Given the description of an element on the screen output the (x, y) to click on. 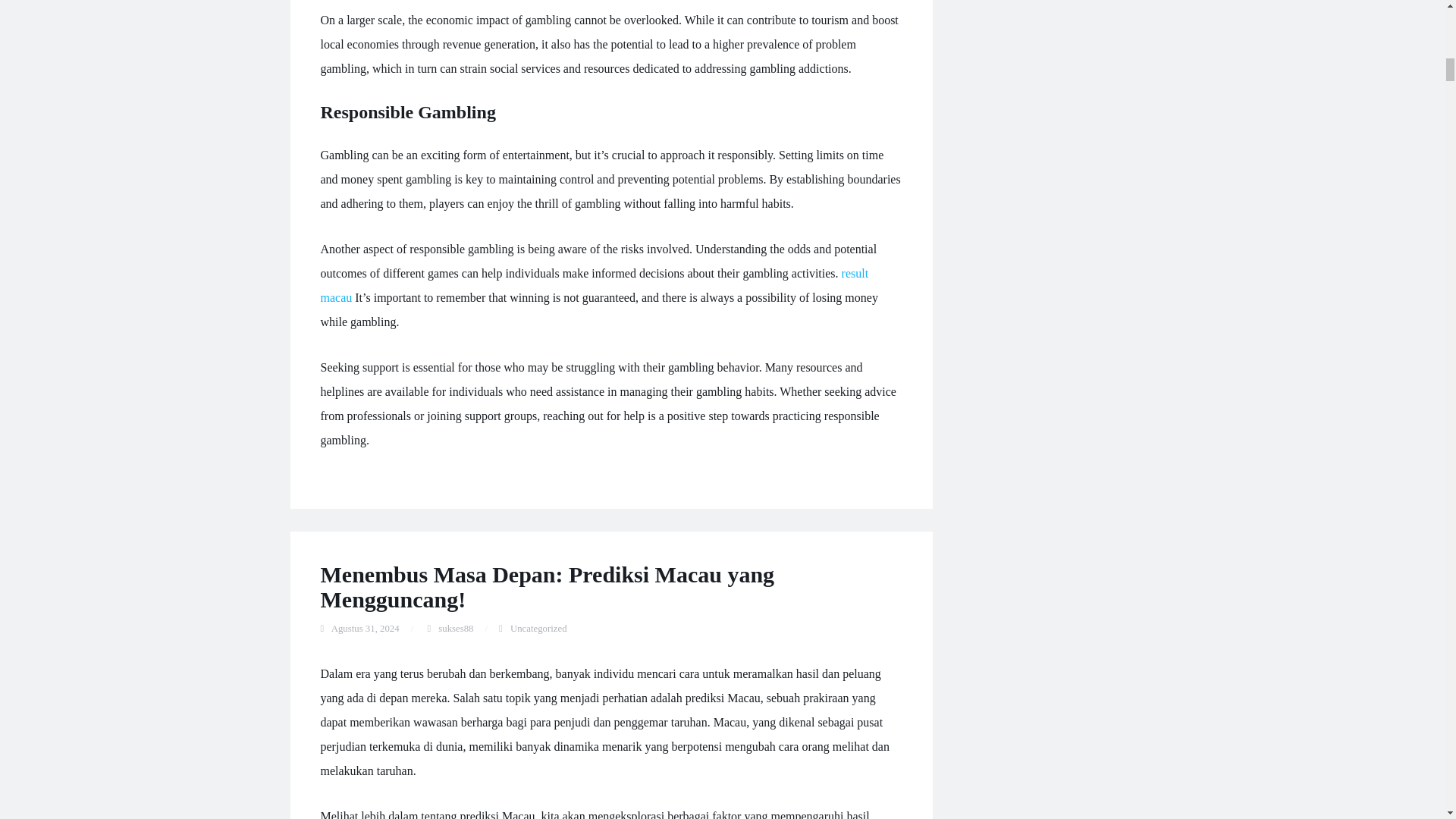
result macau (593, 284)
sukses88 (455, 628)
Agustus 31, 2024 (364, 628)
Menembus Masa Depan: Prediksi Macau yang Mengguncang! (547, 586)
Uncategorized (539, 628)
